Given the description of an element on the screen output the (x, y) to click on. 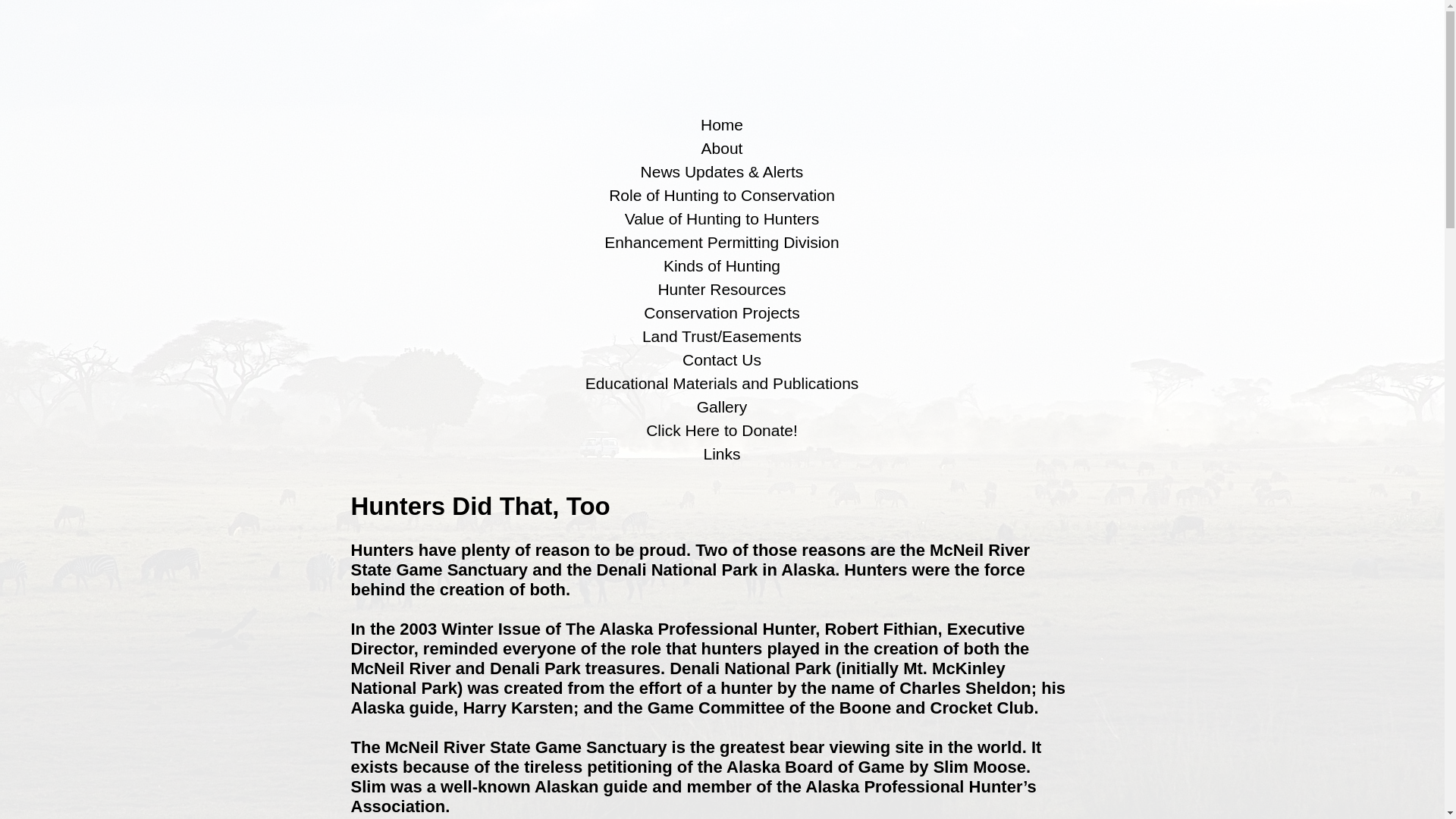
Role of Hunting to Conservation (721, 195)
Hunter Resources (721, 289)
Kinds of Hunting (721, 265)
Value of Hunting to Hunters (721, 219)
Home (721, 124)
About (721, 148)
Enhancement Permitting Division (721, 241)
